Given the description of an element on the screen output the (x, y) to click on. 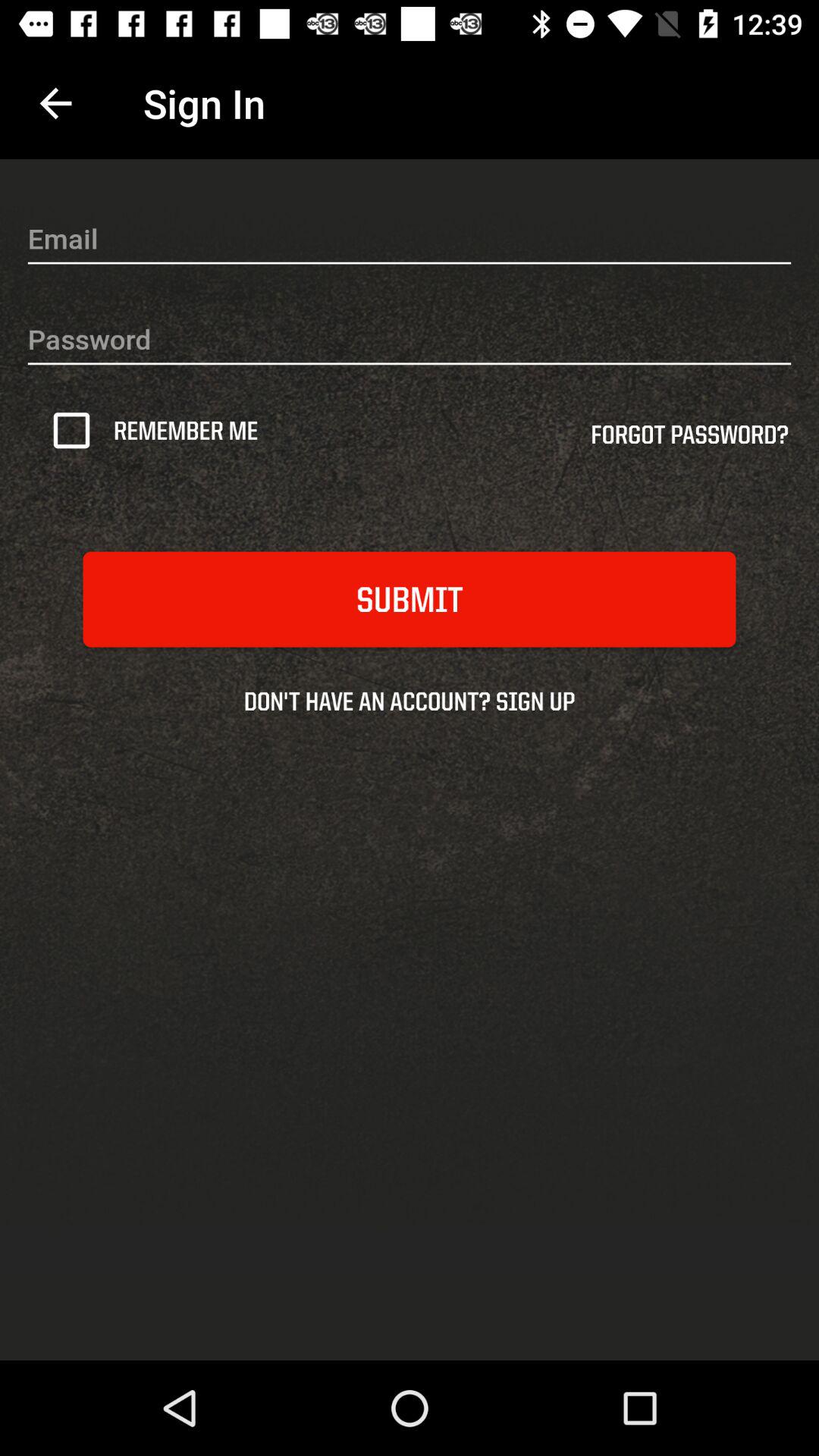
swipe until don t have icon (409, 700)
